Given the description of an element on the screen output the (x, y) to click on. 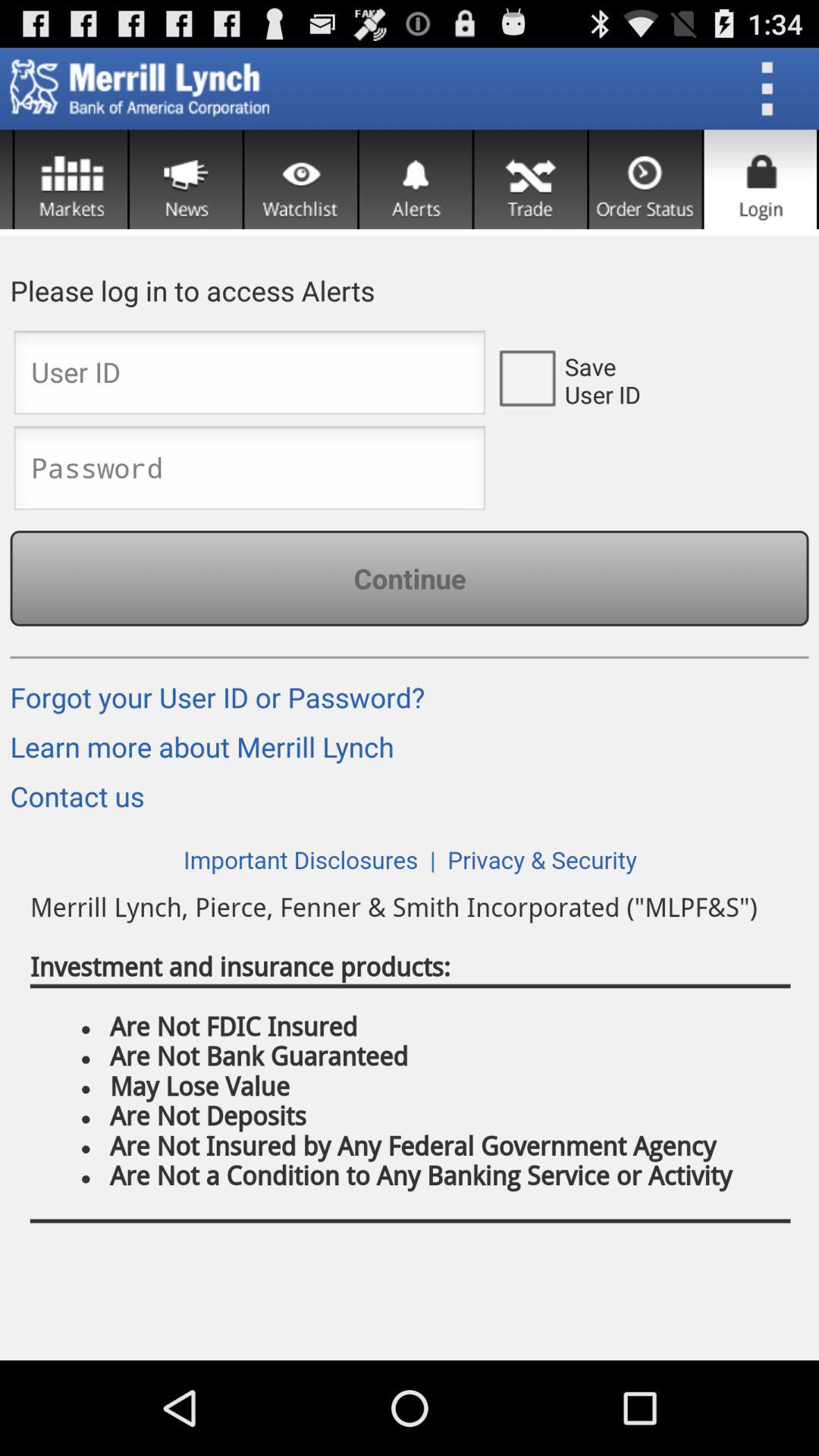
see latest news (185, 179)
